Given the description of an element on the screen output the (x, y) to click on. 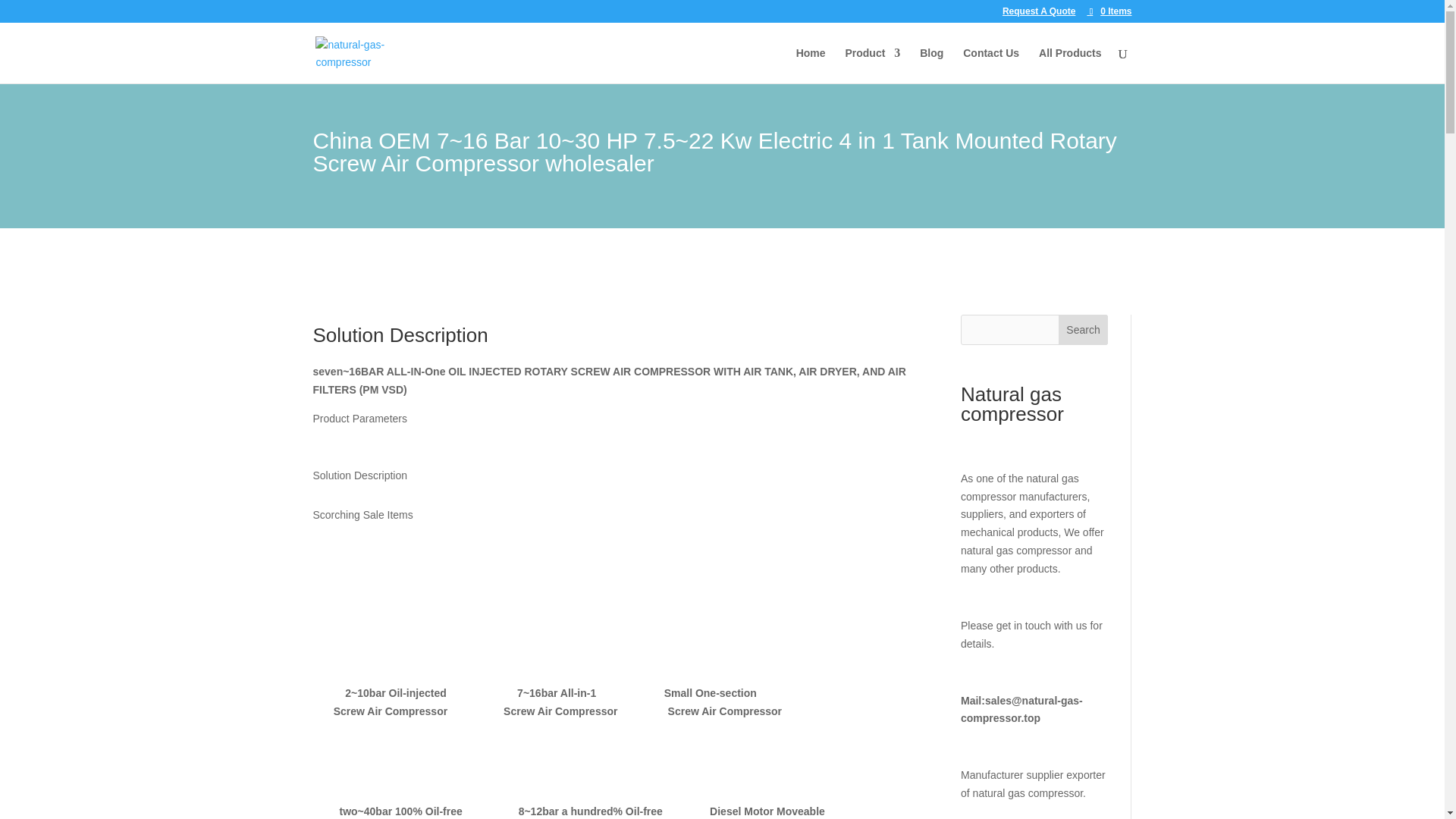
0 Items (1108, 10)
Request A Quote (1039, 14)
All Products (1069, 65)
Contact Us (990, 65)
Product (871, 65)
